Given the description of an element on the screen output the (x, y) to click on. 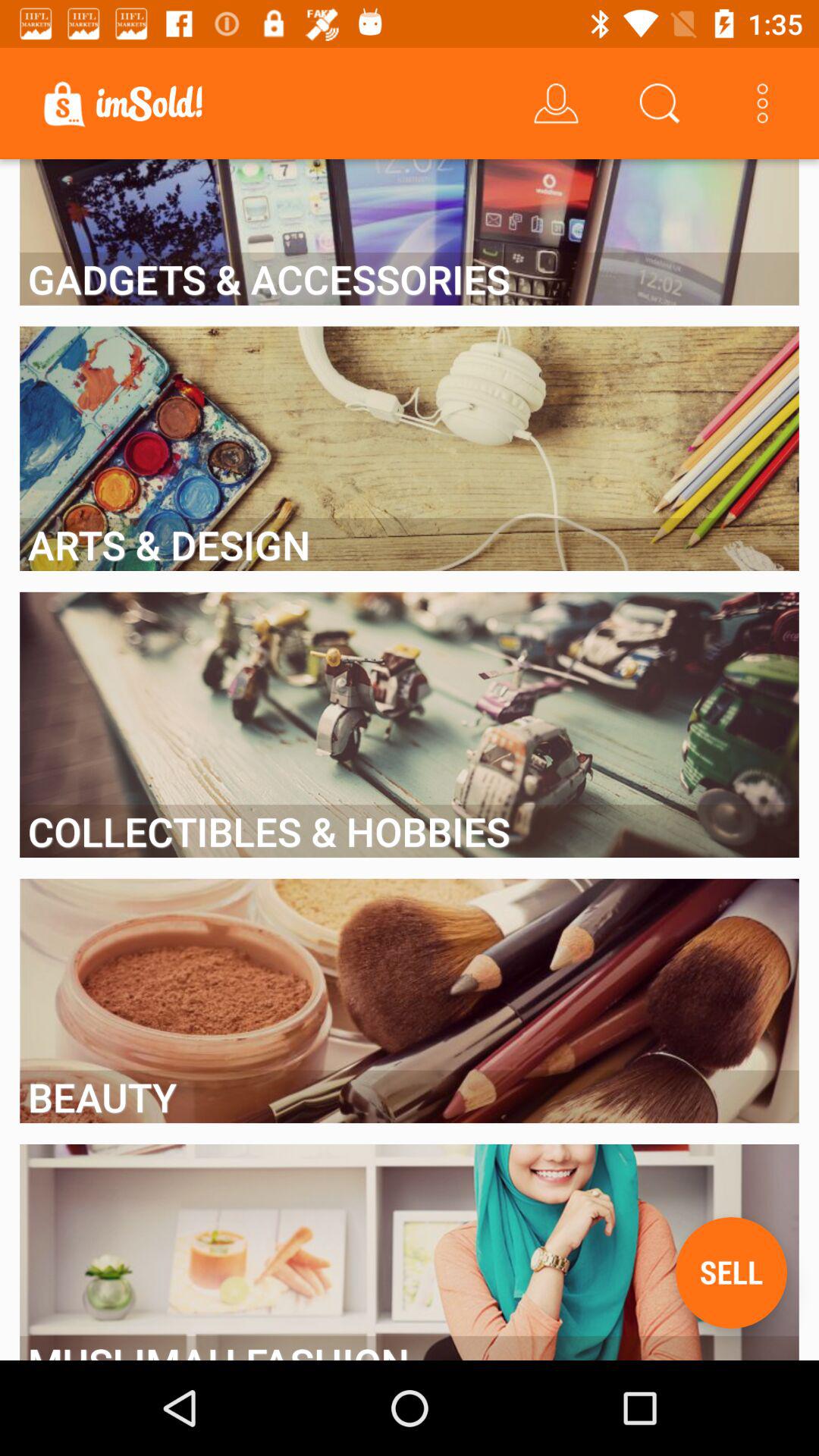
launch collectibles & hobbies (409, 830)
